Given the description of an element on the screen output the (x, y) to click on. 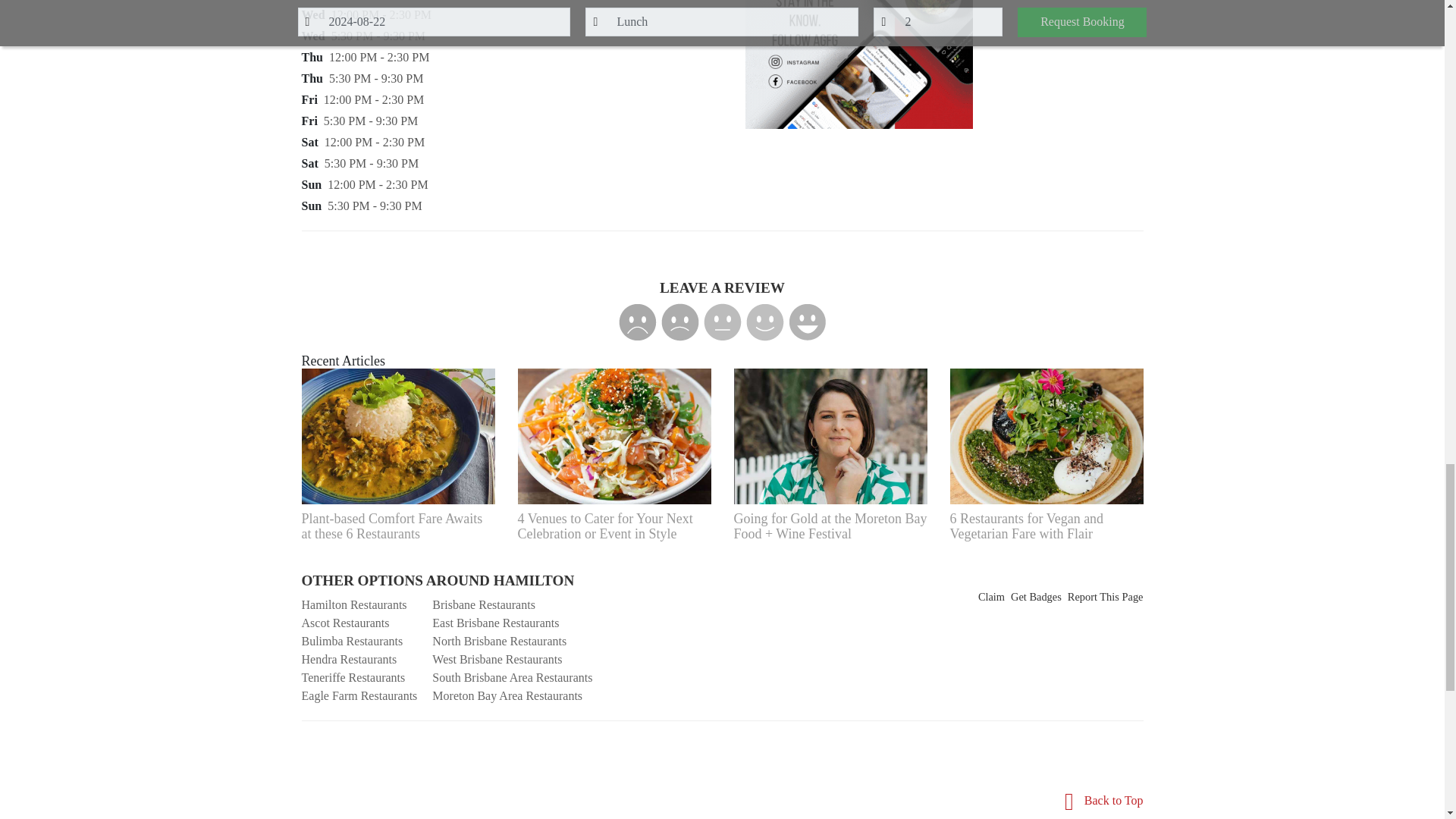
1 (637, 322)
Report this page (1104, 597)
2 (679, 322)
5 (808, 322)
3 (722, 322)
4 (764, 322)
